Given the description of an element on the screen output the (x, y) to click on. 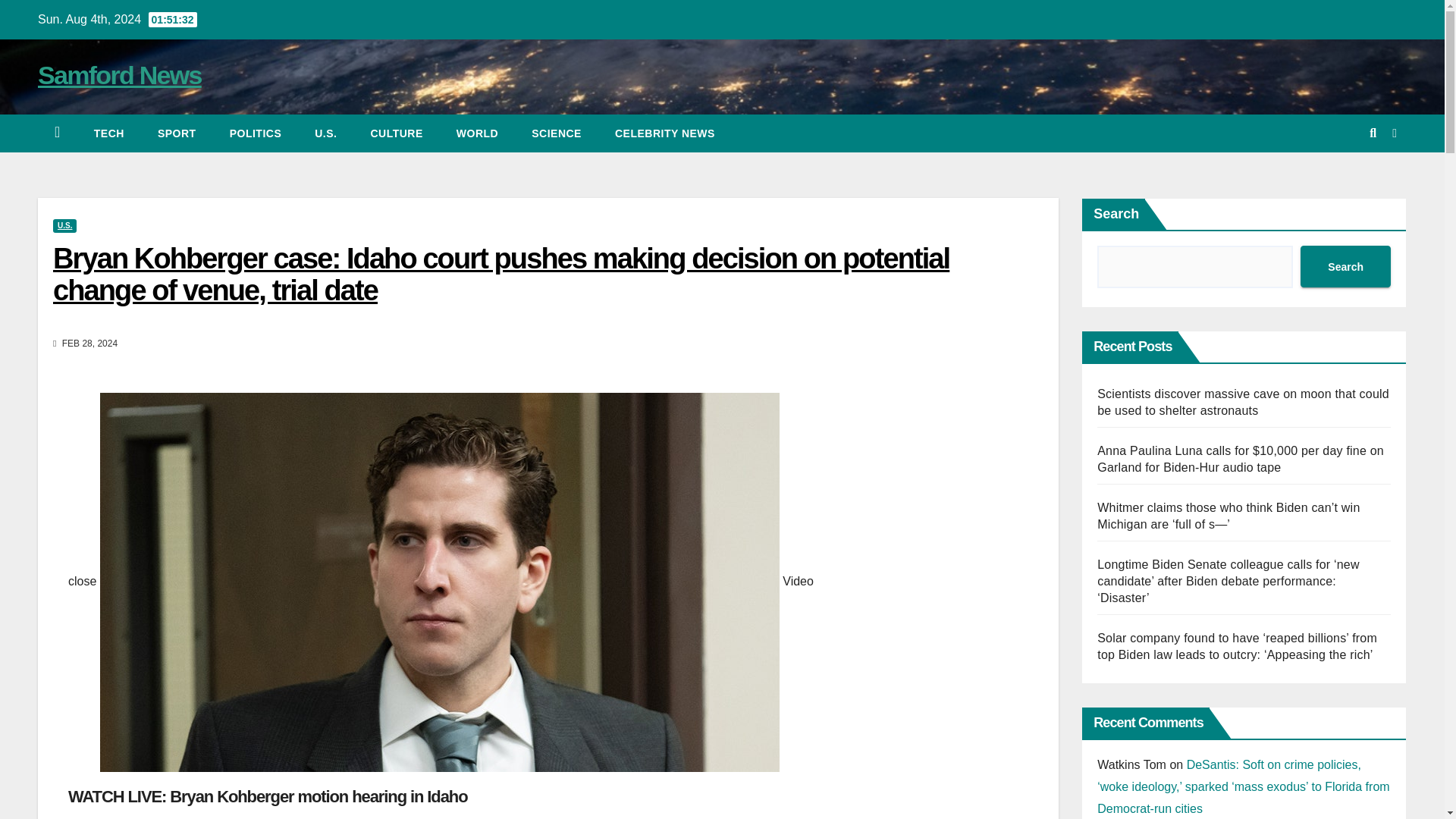
Celebrity News (665, 133)
TECH (109, 133)
CELEBRITY NEWS (665, 133)
Tech (109, 133)
CULTURE (396, 133)
U.S. (325, 133)
SPORT (176, 133)
Science (556, 133)
